Given the description of an element on the screen output the (x, y) to click on. 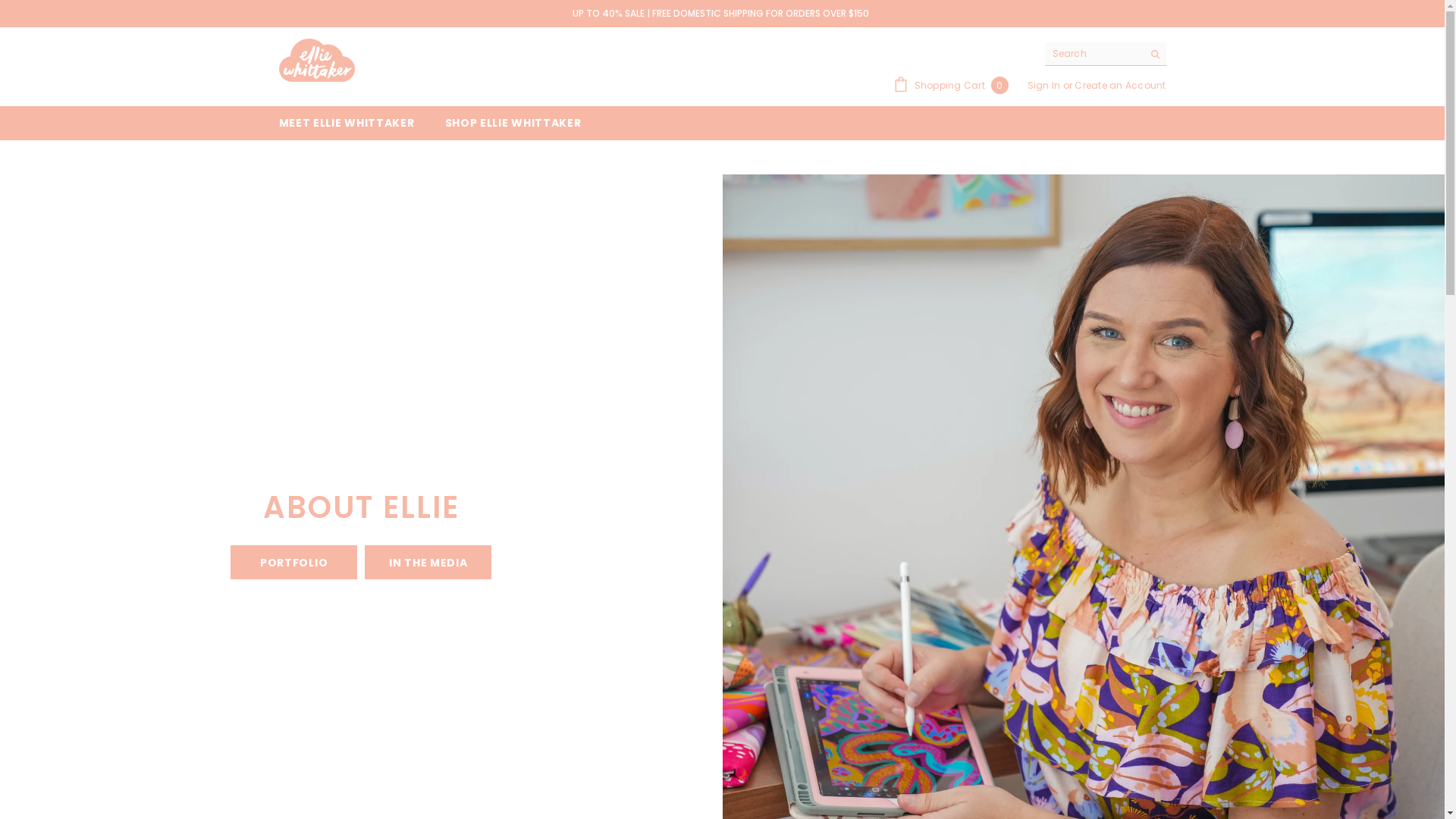
PORTFOLIO Element type: text (293, 562)
Sign In Element type: text (1045, 84)
Create an Account Element type: text (1119, 84)
IN THE MEDIA Element type: text (427, 562)
SHOP ELLIE WHITTAKER Element type: text (512, 123)
MEET ELLIE WHITTAKER Element type: text (346, 123)
Shopping Cart 0
0 items Element type: text (950, 85)
